Given the description of an element on the screen output the (x, y) to click on. 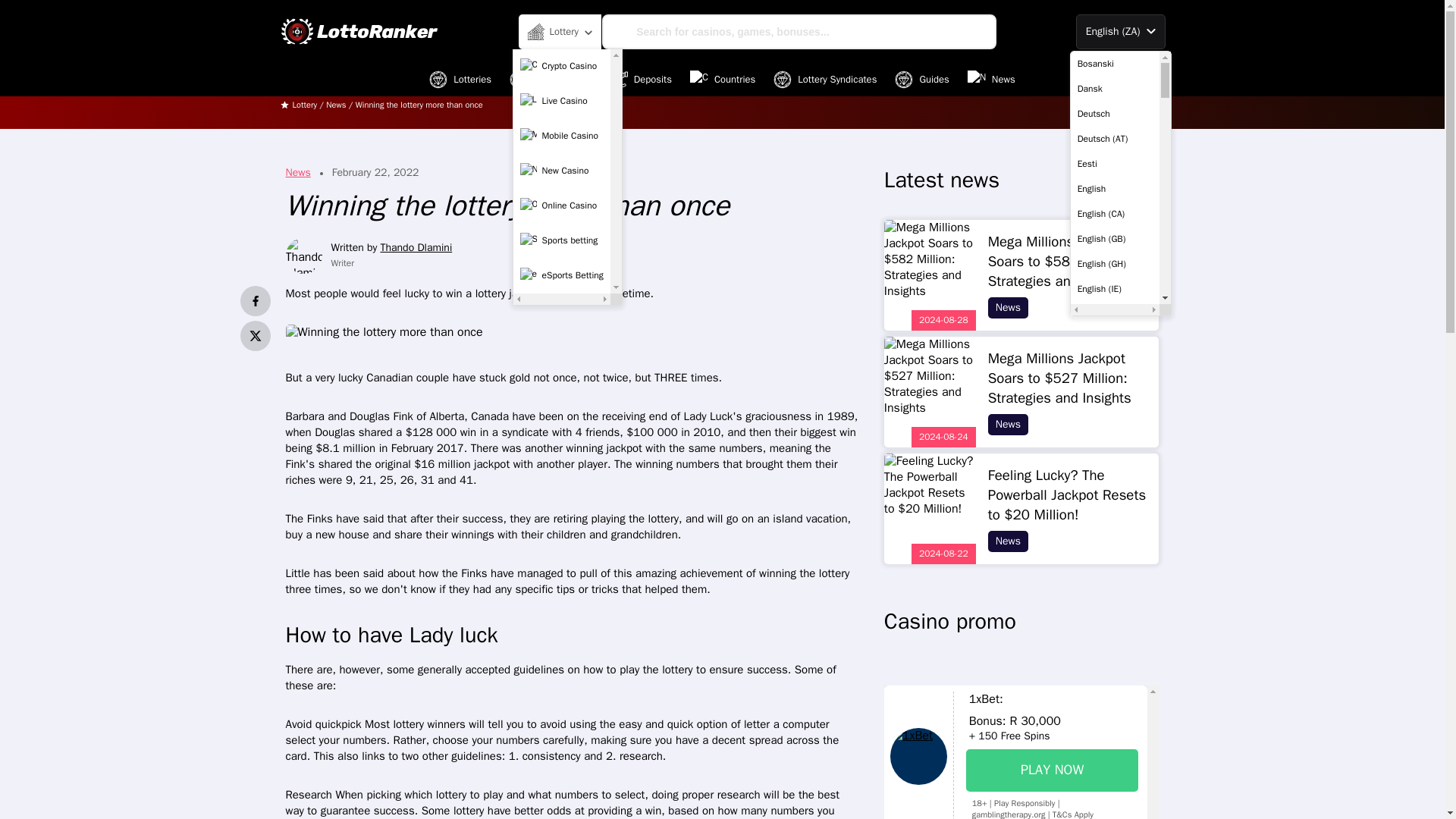
eSports Betting (561, 275)
Eesti (1115, 163)
Crypto Casino (561, 65)
Online Casino (561, 205)
Hrvatski (1115, 810)
Bosanski (1115, 63)
Mobile Casino (561, 135)
Deutsch (1115, 113)
Sports betting (561, 240)
Live Casino (561, 100)
